Given the description of an element on the screen output the (x, y) to click on. 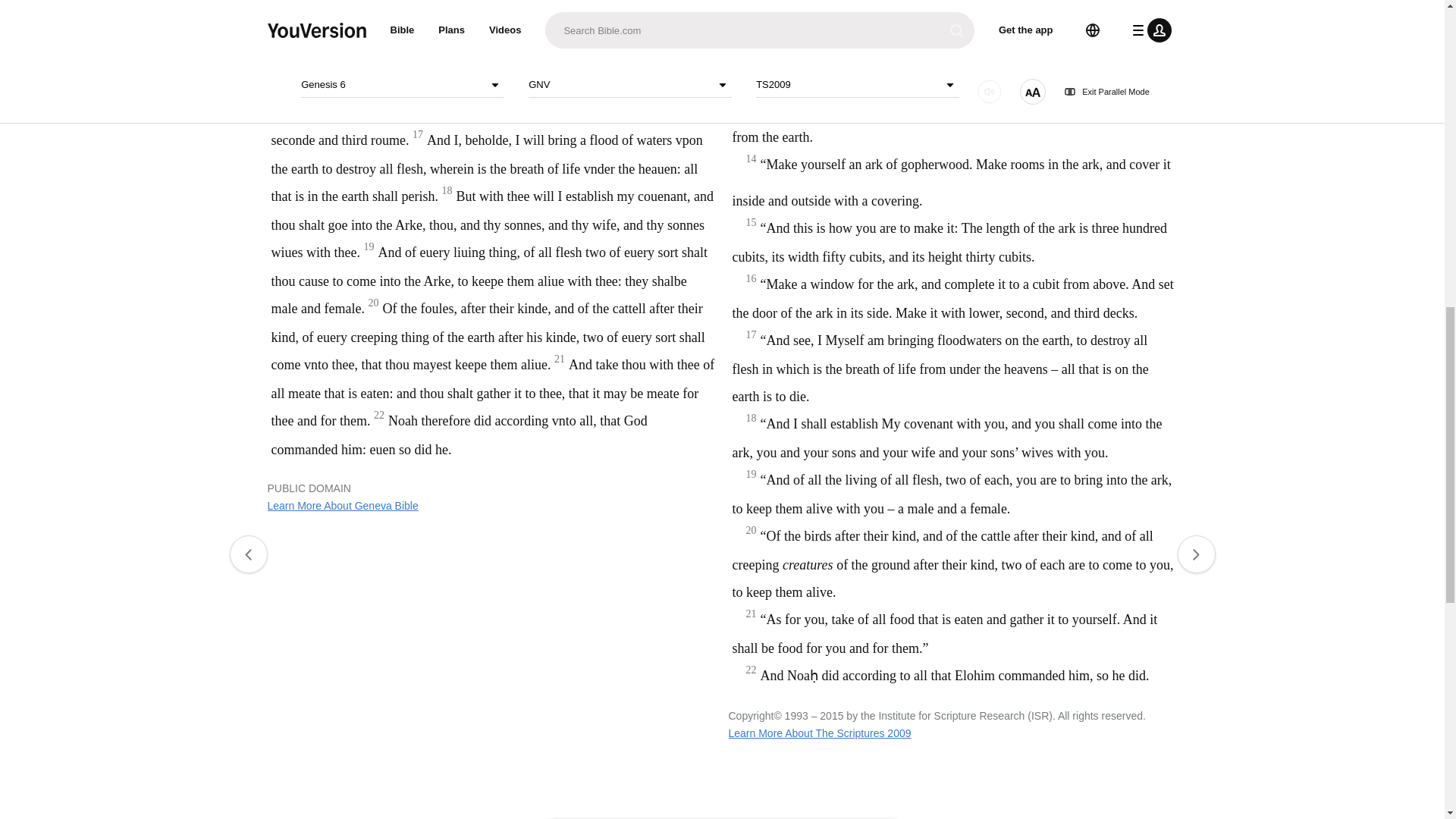
Learn More About The Scriptures 2009 (819, 733)
Sign up or sign in (773, 245)
Learn More About Geneva Bible (341, 505)
Genesis 6: GNV (617, 47)
: (599, 47)
